Given the description of an element on the screen output the (x, y) to click on. 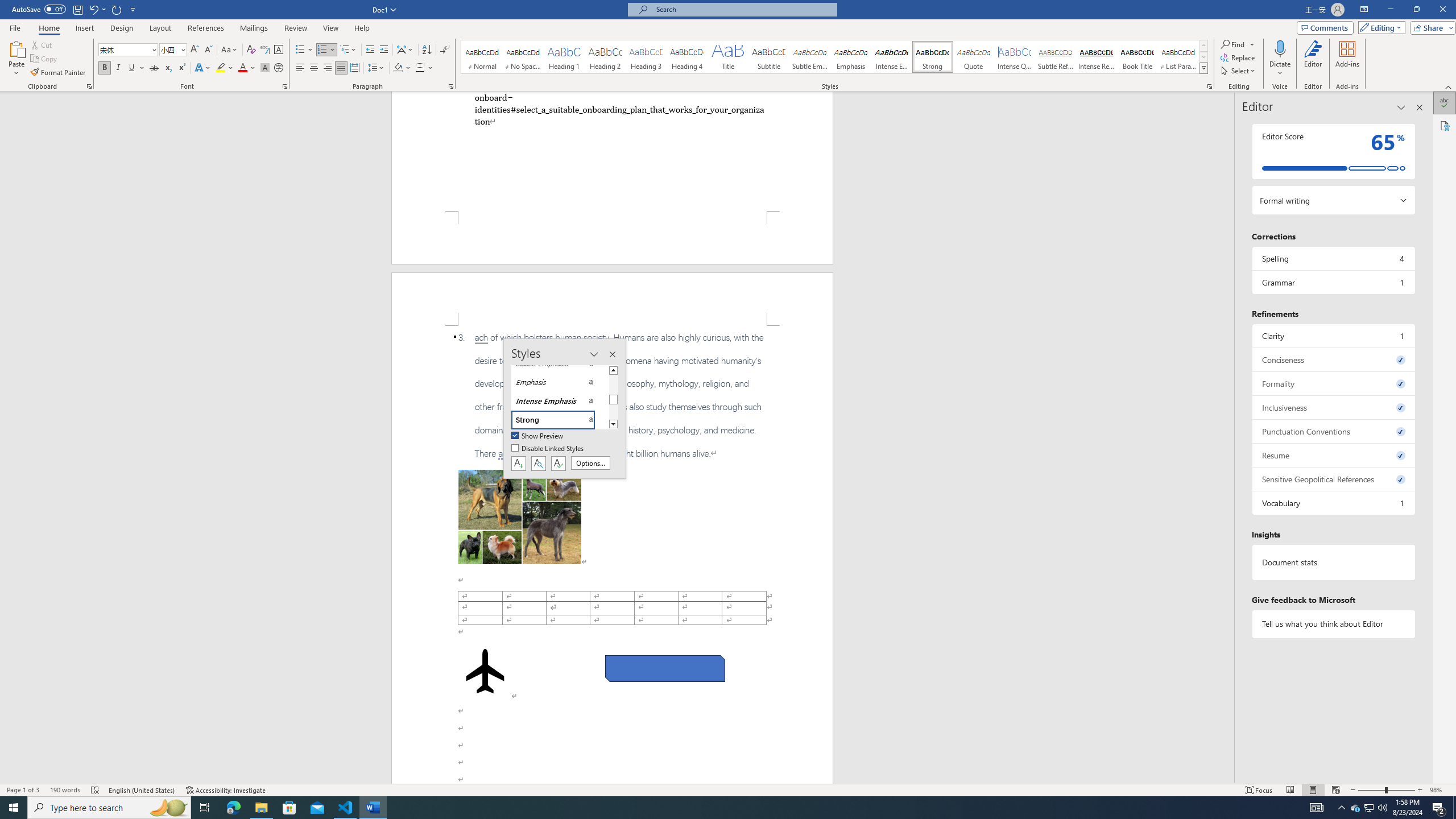
Editor Score 65% (1333, 151)
Heading 3 (646, 56)
Subtle Reference (1055, 56)
Document statistics (1333, 561)
